Given the description of an element on the screen output the (x, y) to click on. 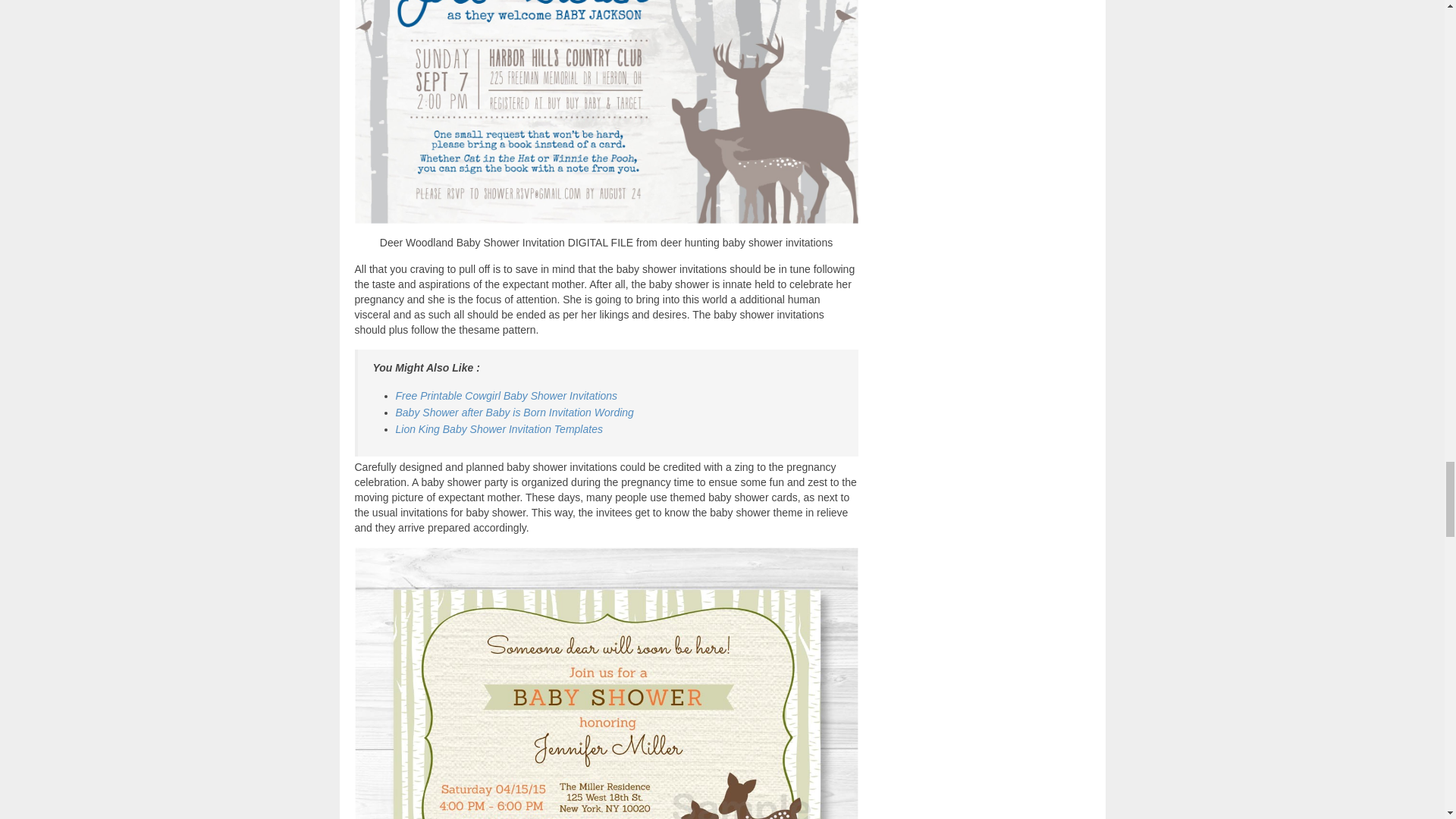
Lion King Baby Shower Invitation Templates (499, 428)
Free Printable Cowgirl Baby Shower Invitations (506, 395)
Baby Shower after Baby is Born Invitation Wording (514, 412)
Deer Woodland Baby Shower Invitation DIGITAL FILE (607, 111)
